Given the description of an element on the screen output the (x, y) to click on. 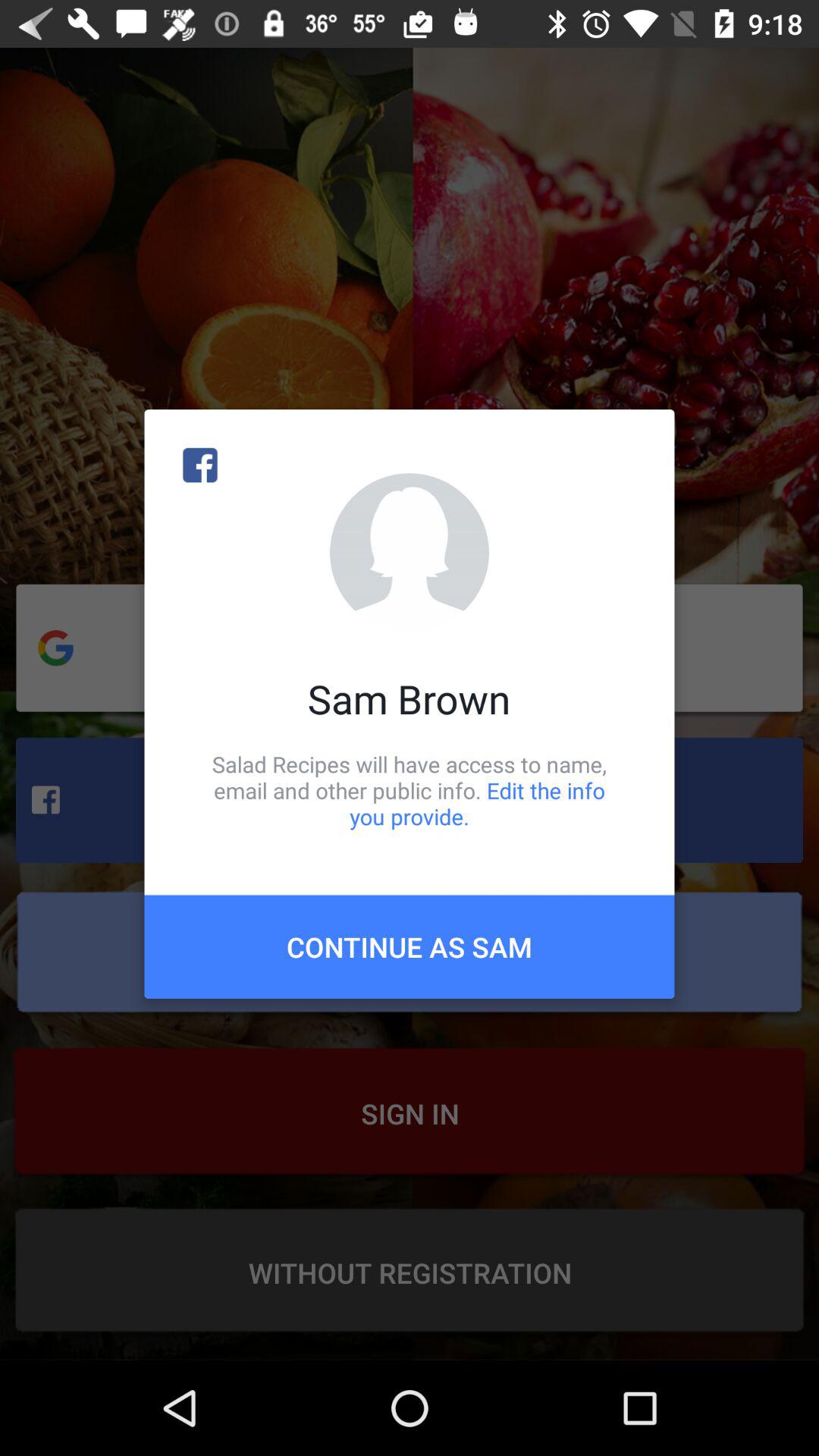
flip until salad recipes will icon (409, 790)
